Given the description of an element on the screen output the (x, y) to click on. 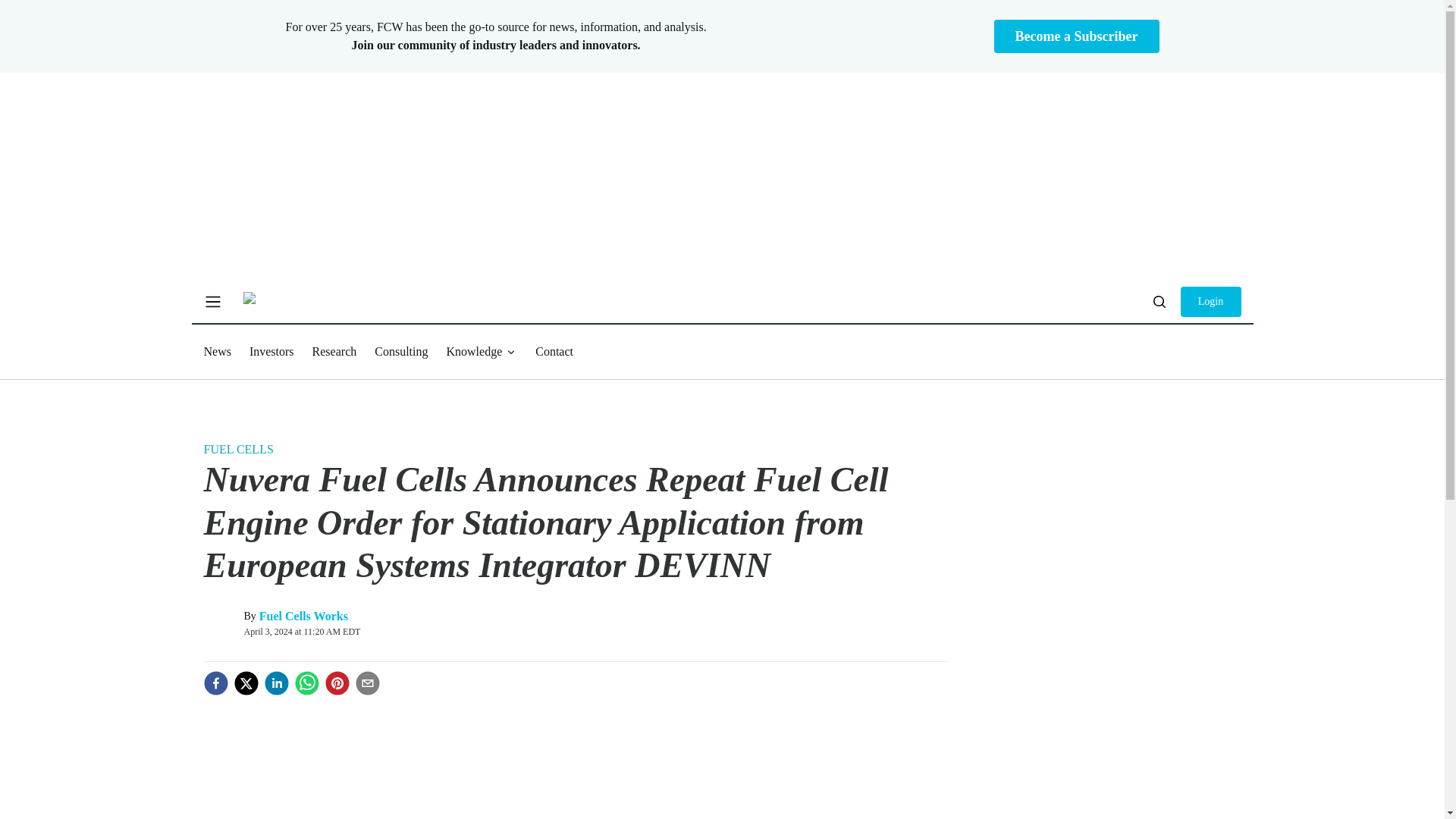
Investors (271, 350)
News (216, 350)
Consulting (401, 350)
Research (334, 350)
Knowledge (480, 352)
Contact (554, 350)
FUEL CELLS (238, 449)
Become a Subscriber (1076, 36)
Login (1209, 301)
